Given the description of an element on the screen output the (x, y) to click on. 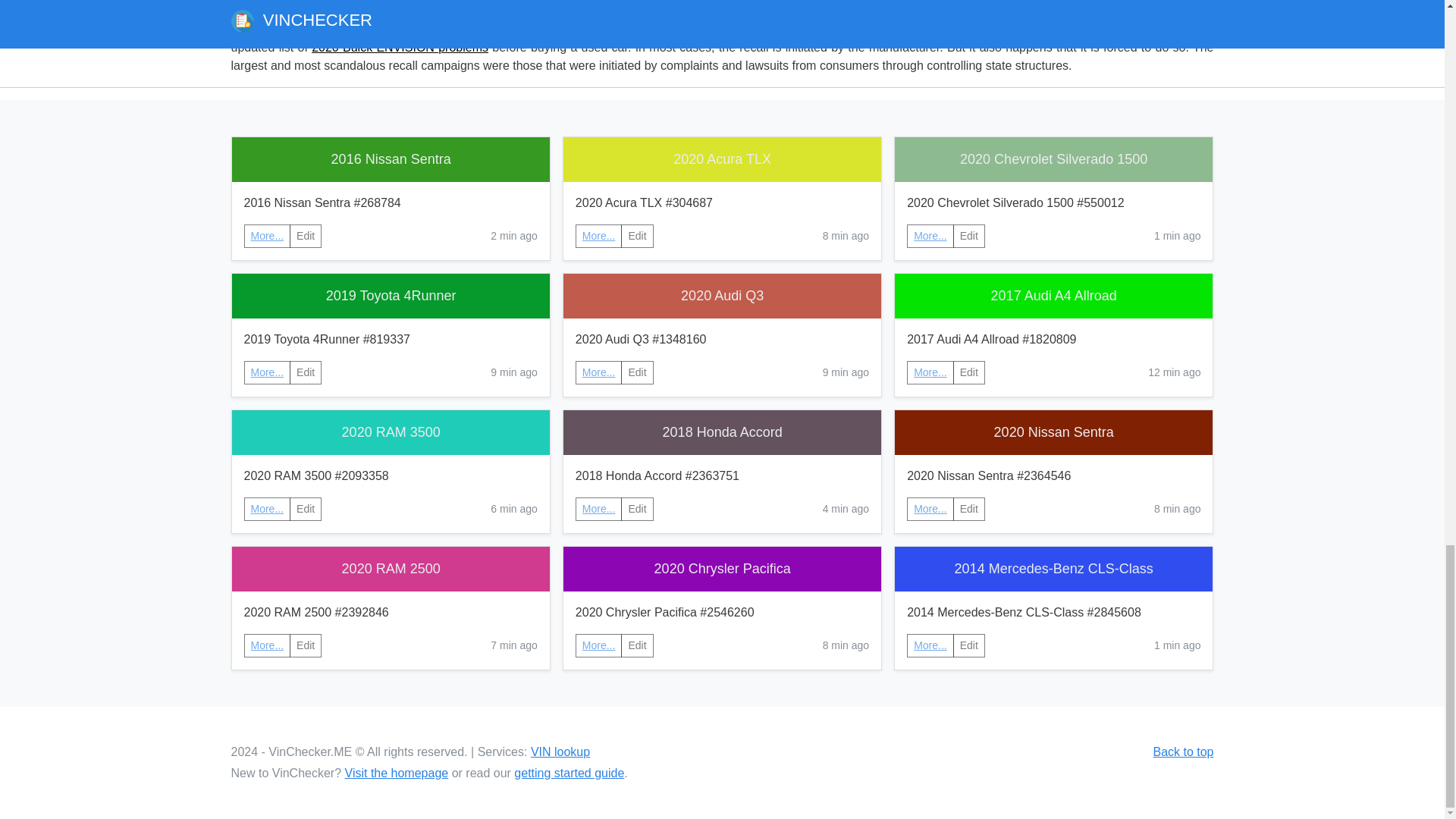
2020 Nissan Sentra (1053, 432)
Edit (636, 372)
More... (599, 372)
2020 Audi Q3 (721, 295)
More... (599, 508)
2020 Chrysler Pacifica (721, 569)
VIN lookup (560, 751)
Edit (636, 508)
2020 RAM 3500 (390, 432)
2020 Buick ENVISION problems (399, 47)
